Given the description of an element on the screen output the (x, y) to click on. 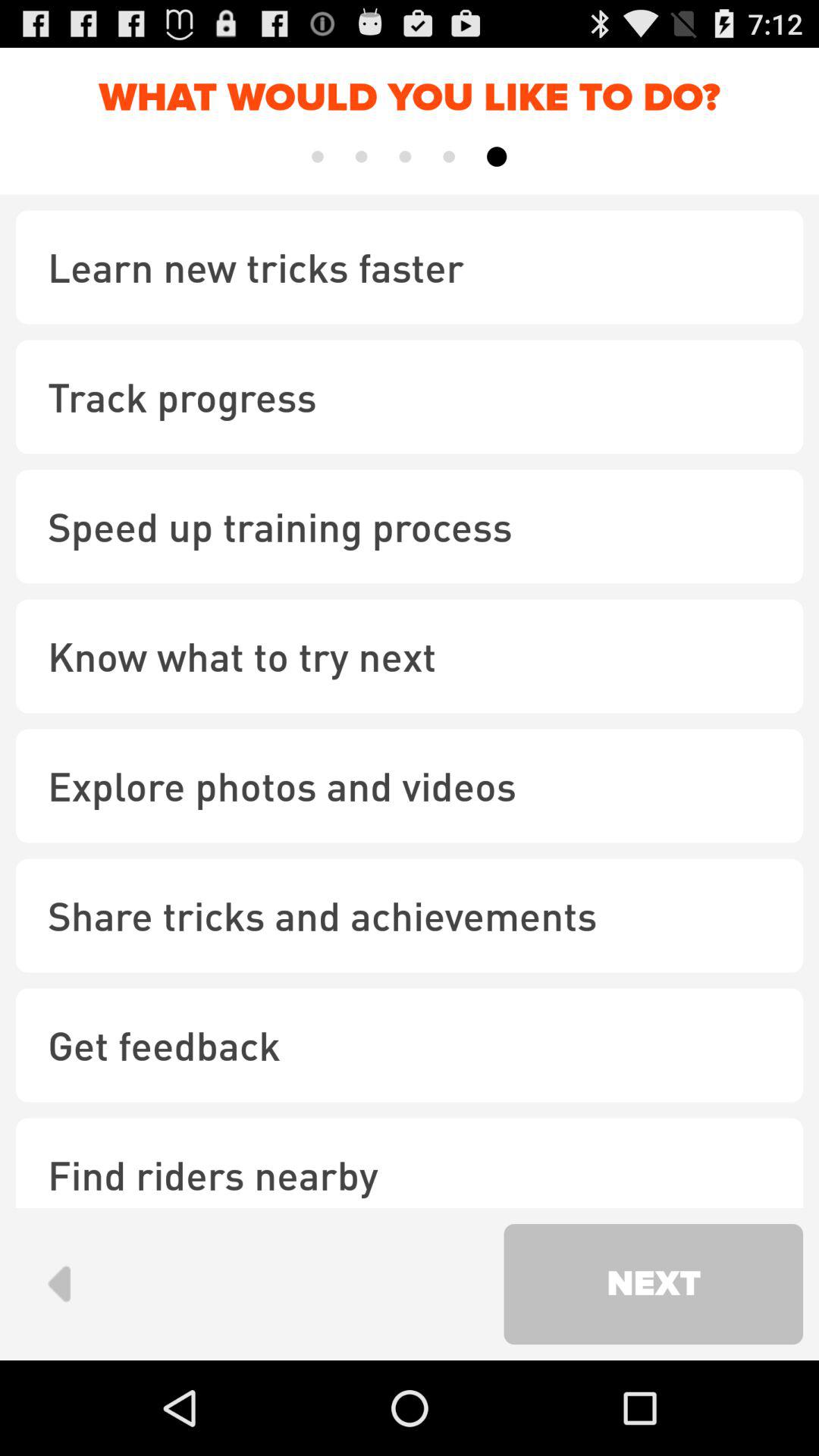
scroll until the explore photos and checkbox (409, 785)
